Given the description of an element on the screen output the (x, y) to click on. 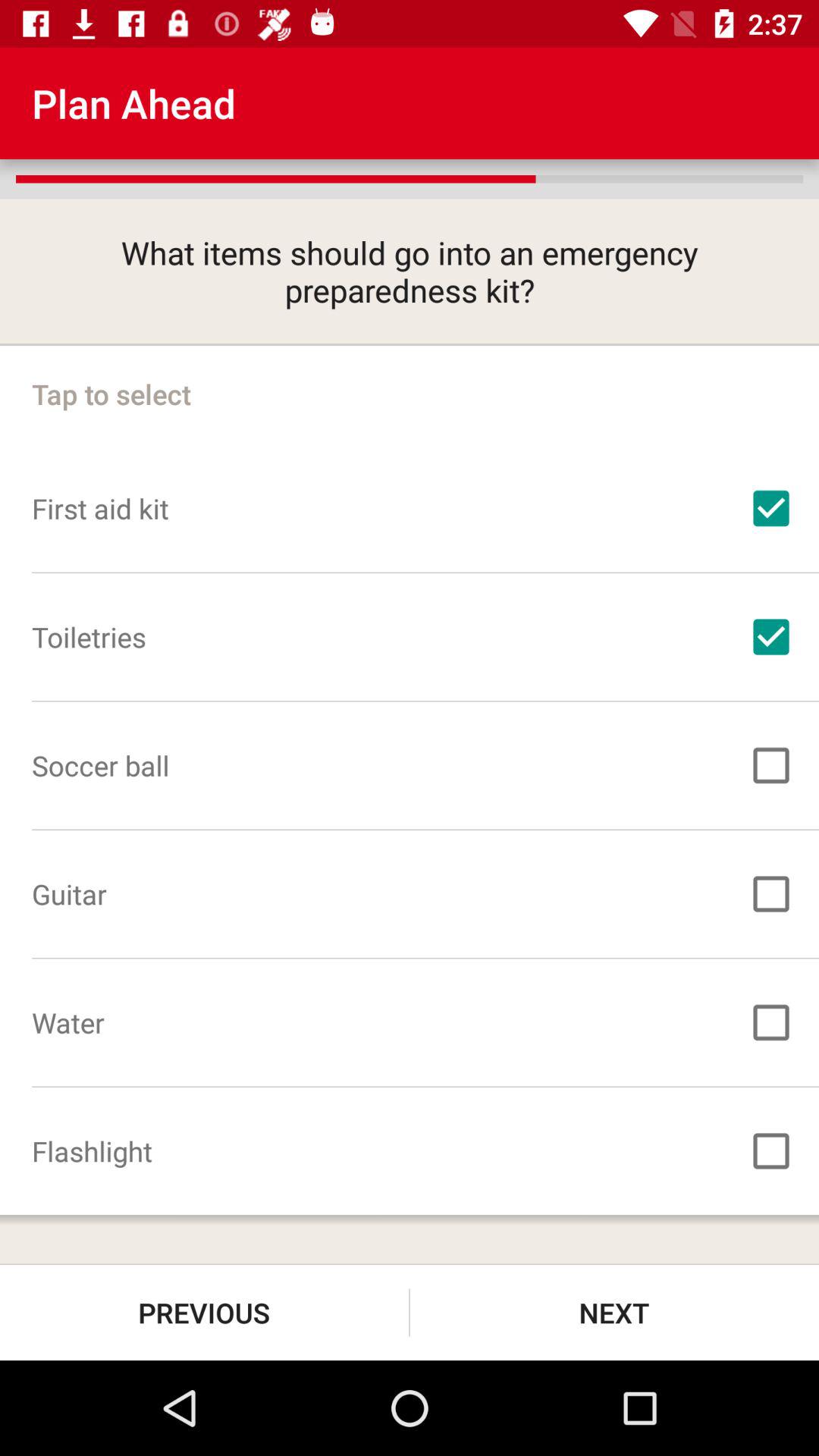
open the next icon (614, 1312)
